Given the description of an element on the screen output the (x, y) to click on. 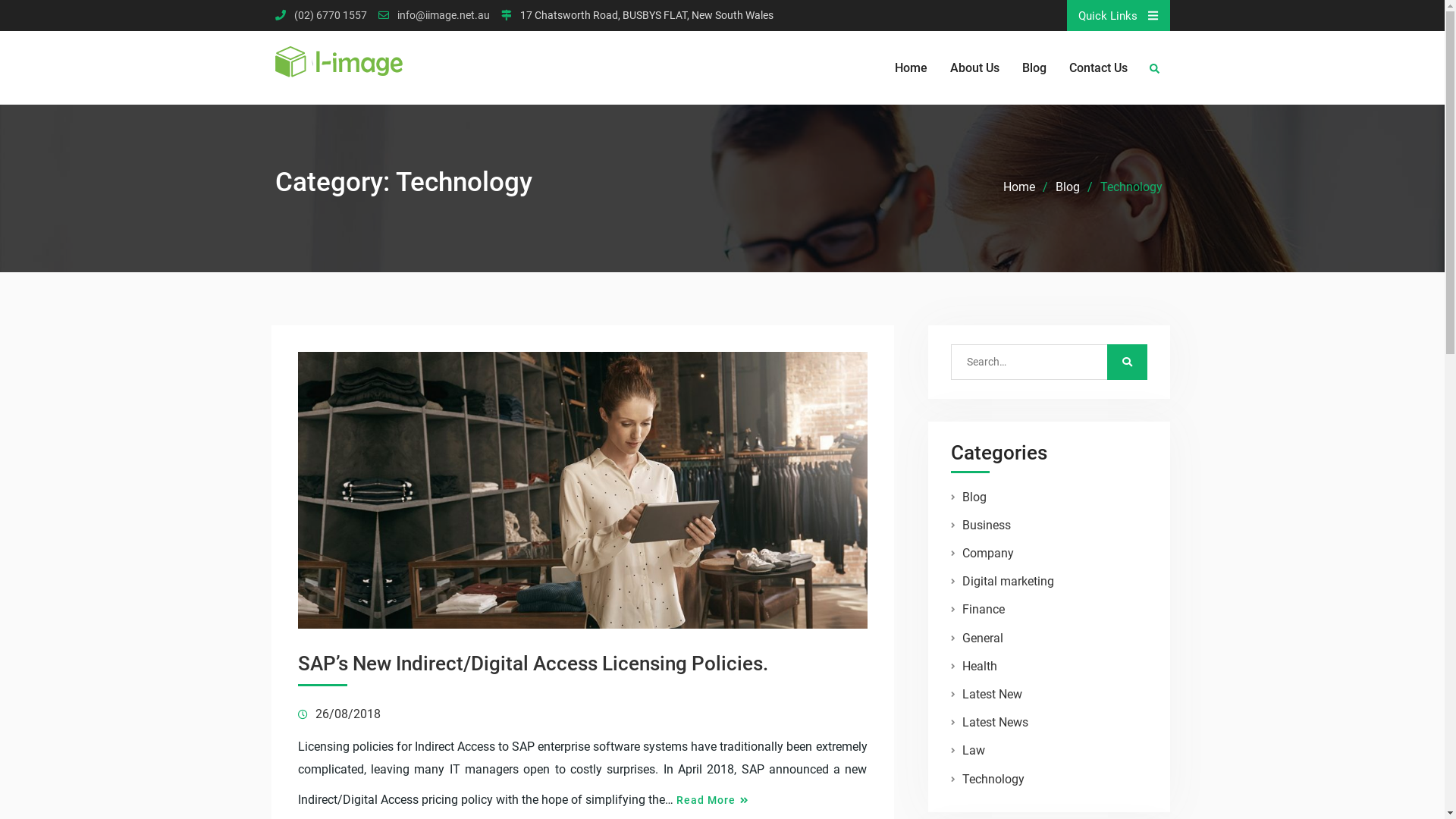
Latest New Element type: text (991, 694)
Blog Element type: text (1067, 186)
Latest News Element type: text (994, 722)
Home Element type: text (910, 67)
Blog Element type: text (973, 496)
Home Element type: text (1018, 186)
Health Element type: text (978, 665)
Blog Element type: text (1034, 67)
Digital marketing Element type: text (1007, 581)
26/08/2018 Element type: text (347, 713)
(02) 6770 1557 Element type: text (330, 15)
General Element type: text (981, 637)
Search for: Element type: hover (1035, 361)
Technology Element type: text (992, 778)
Company Element type: text (987, 553)
Read More Element type: text (712, 800)
info@iimage.net.au Element type: text (443, 15)
Quick Links Element type: text (1117, 15)
Business Element type: text (985, 524)
Contact Us Element type: text (1098, 67)
Law Element type: text (972, 750)
About Us Element type: text (973, 67)
Finance Element type: text (982, 609)
